Given the description of an element on the screen output the (x, y) to click on. 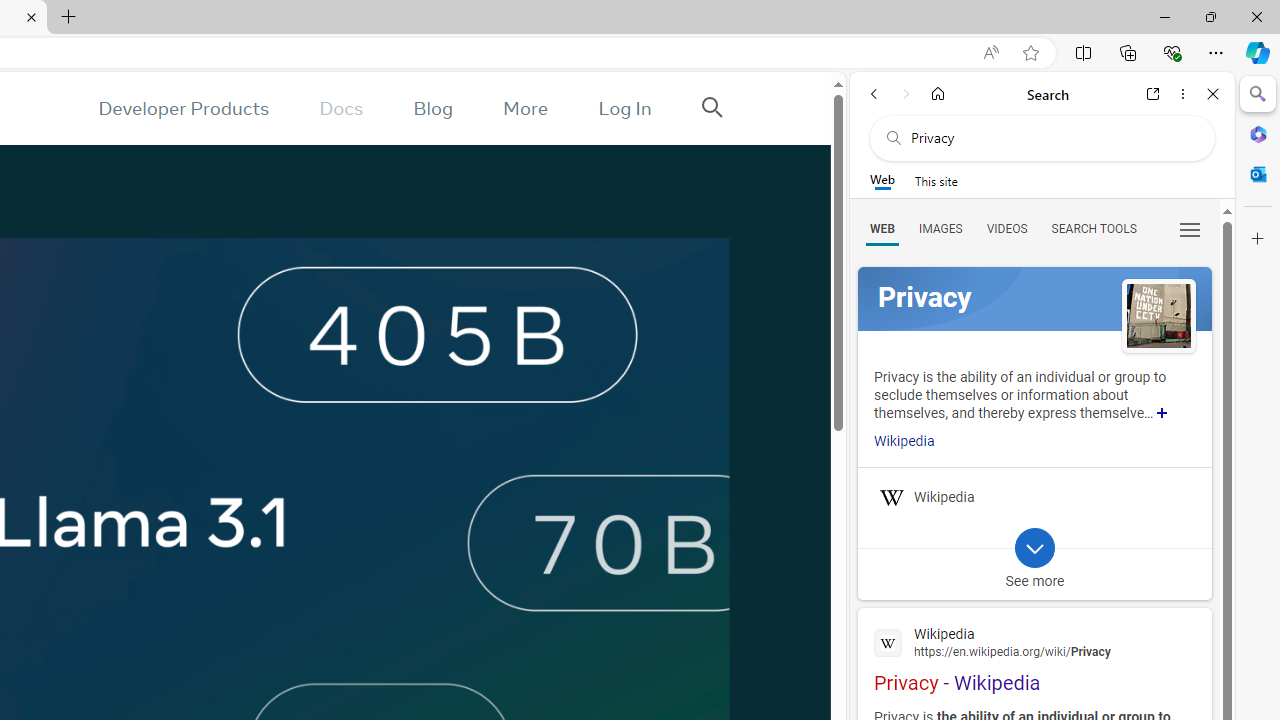
Blog (432, 108)
Privacy - Wikipedia (1034, 657)
Class: spl_logobg (1034, 299)
Preferences (1189, 228)
Wikipedia (1034, 641)
Blog (432, 108)
Search the web (1051, 137)
Docs (341, 108)
SEARCH TOOLS (1093, 228)
